Given the description of an element on the screen output the (x, y) to click on. 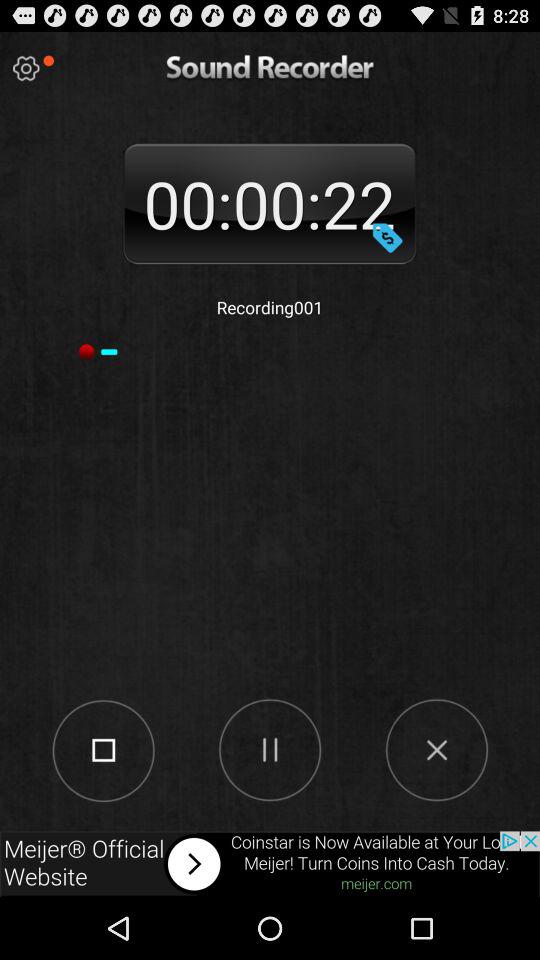
toggle the play button (269, 749)
